Given the description of an element on the screen output the (x, y) to click on. 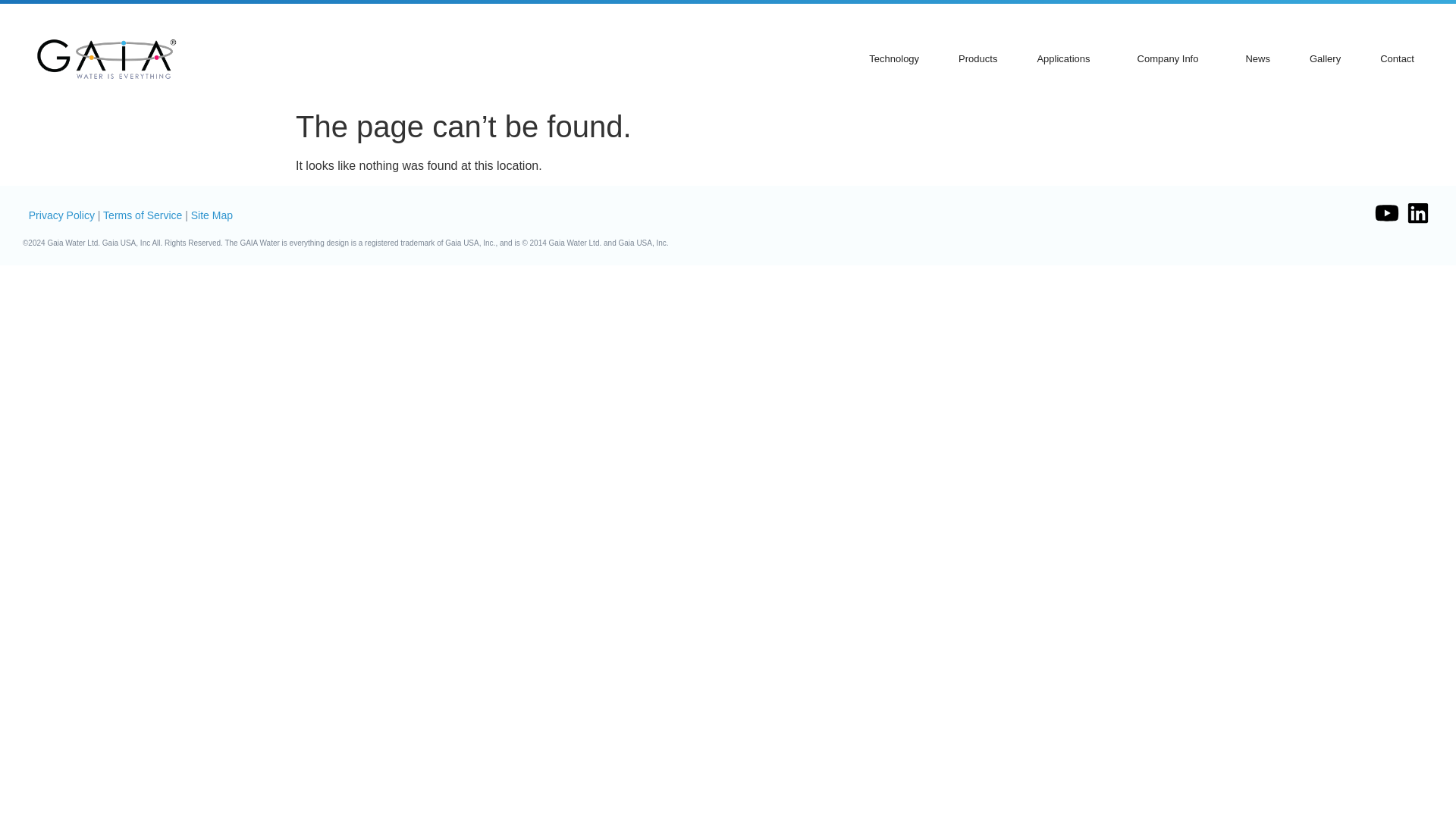
Applications (1066, 58)
News (1257, 58)
Contact (1396, 58)
Gallery (1325, 58)
Terms of Service (142, 215)
Products (978, 58)
Technology (893, 58)
Site Map (211, 215)
Privacy Policy (61, 215)
Company Info (1171, 58)
